Given the description of an element on the screen output the (x, y) to click on. 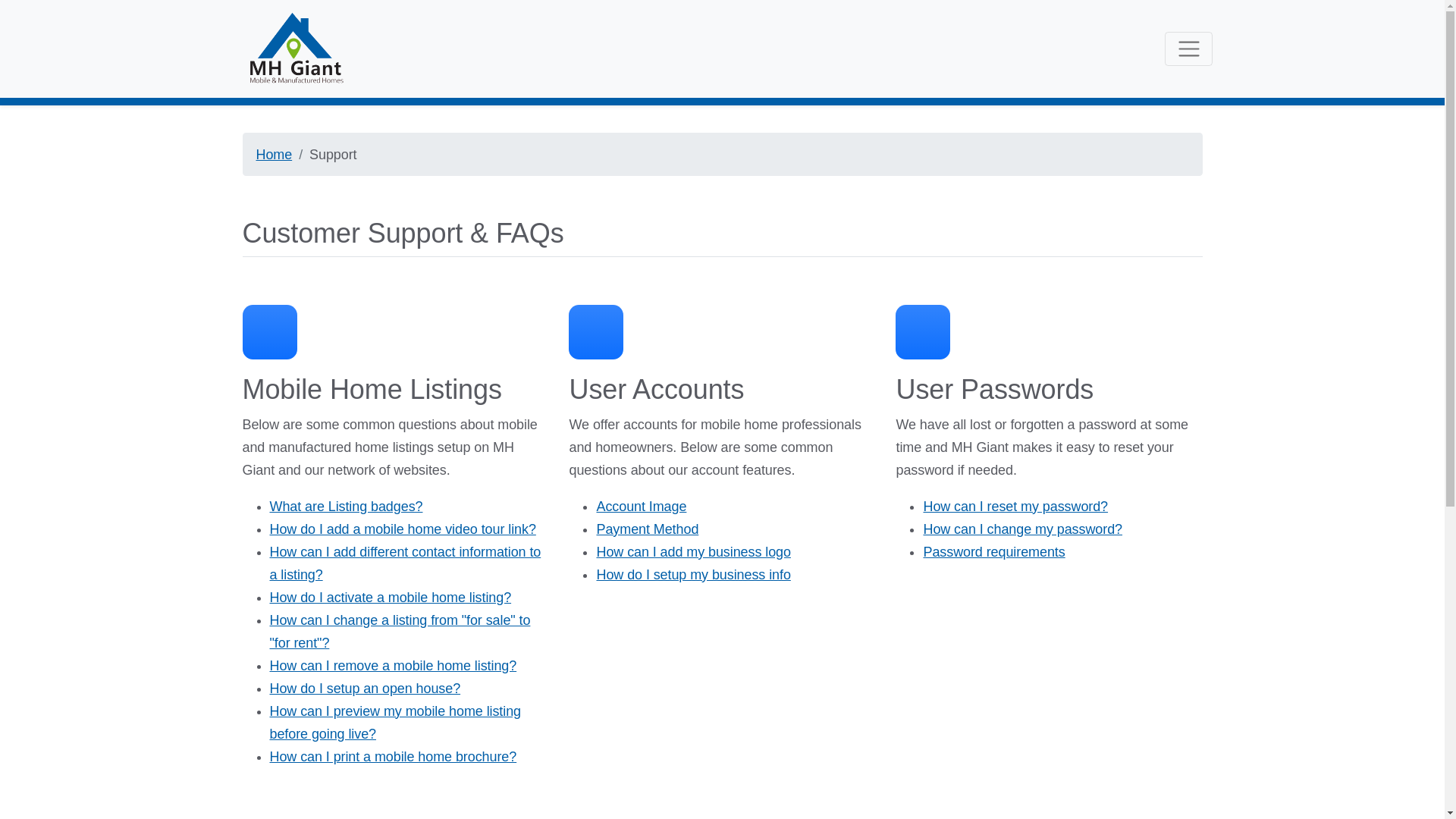
Password requirements (993, 551)
How do I add a mobile home video tour link? (402, 529)
Payment Method (646, 529)
How can I add different contact information to a listing? (405, 563)
How can I add my business logo (692, 551)
How can I change my password? (1022, 529)
How do I setup an open house? (365, 688)
How can I reset my password? (1015, 506)
How can I preview my mobile home listing before going live? (395, 722)
How can I change a listing from "for sale" to "for rent"? (400, 631)
